Given the description of an element on the screen output the (x, y) to click on. 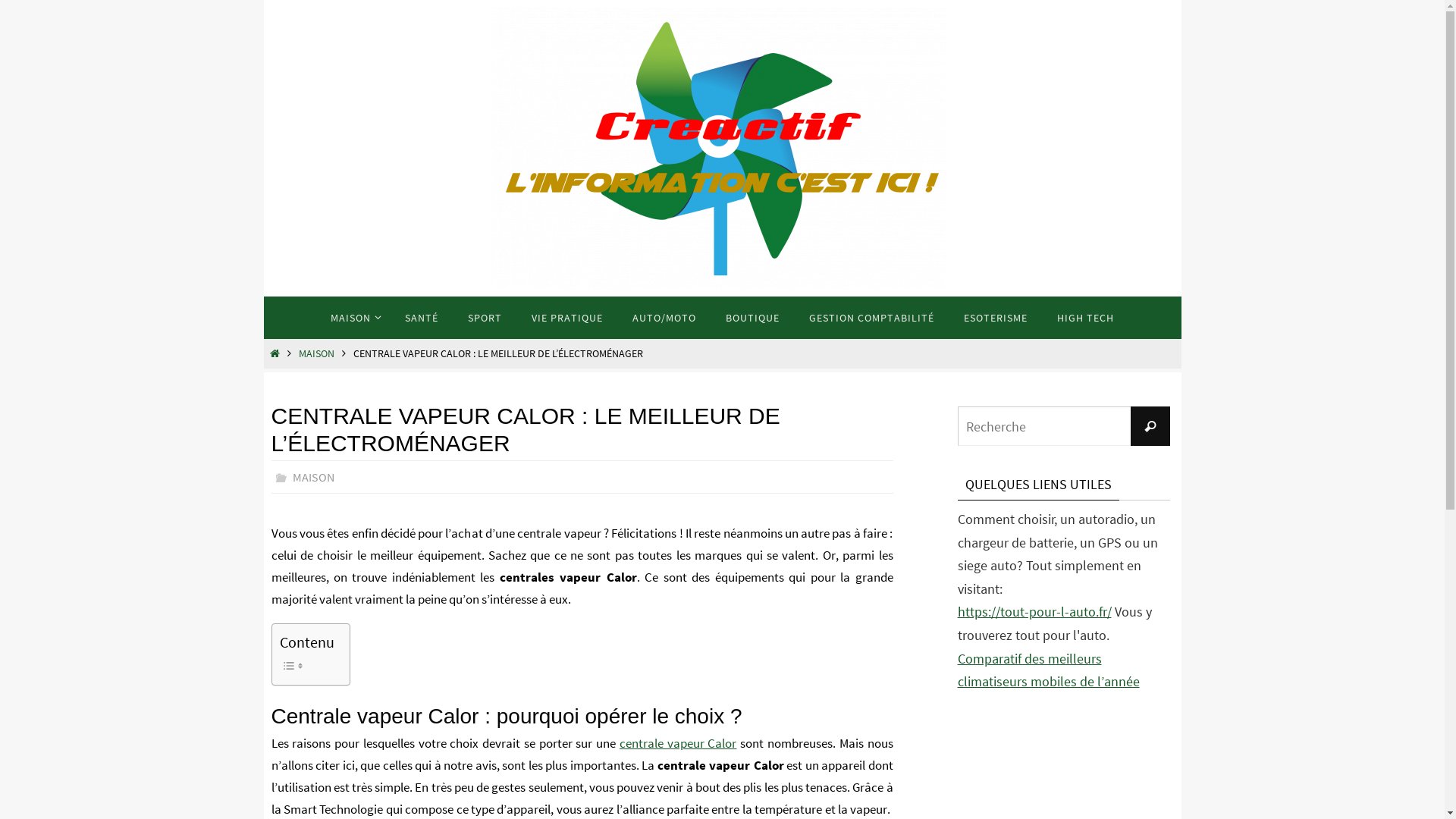
CreacTiF Element type: hover (718, 148)
centrale vapeur Calor Element type: text (678, 742)
VIE PRATIQUE Element type: text (566, 317)
MAISON Element type: text (313, 477)
https://tout-pour-l-auto.fr/ Element type: text (1033, 611)
ESOTERISME Element type: text (995, 317)
AUTO/MOTO Element type: text (663, 317)
Passer vers le contenu Element type: text (262, 331)
Recherche Element type: text (1149, 425)
HOME Element type: text (273, 353)
HIGH TECH Element type: text (1085, 317)
MAISON Element type: text (316, 353)
MAISON Element type: text (352, 317)
BOUTIQUE Element type: text (752, 317)
SPORT Element type: text (484, 317)
